Given the description of an element on the screen output the (x, y) to click on. 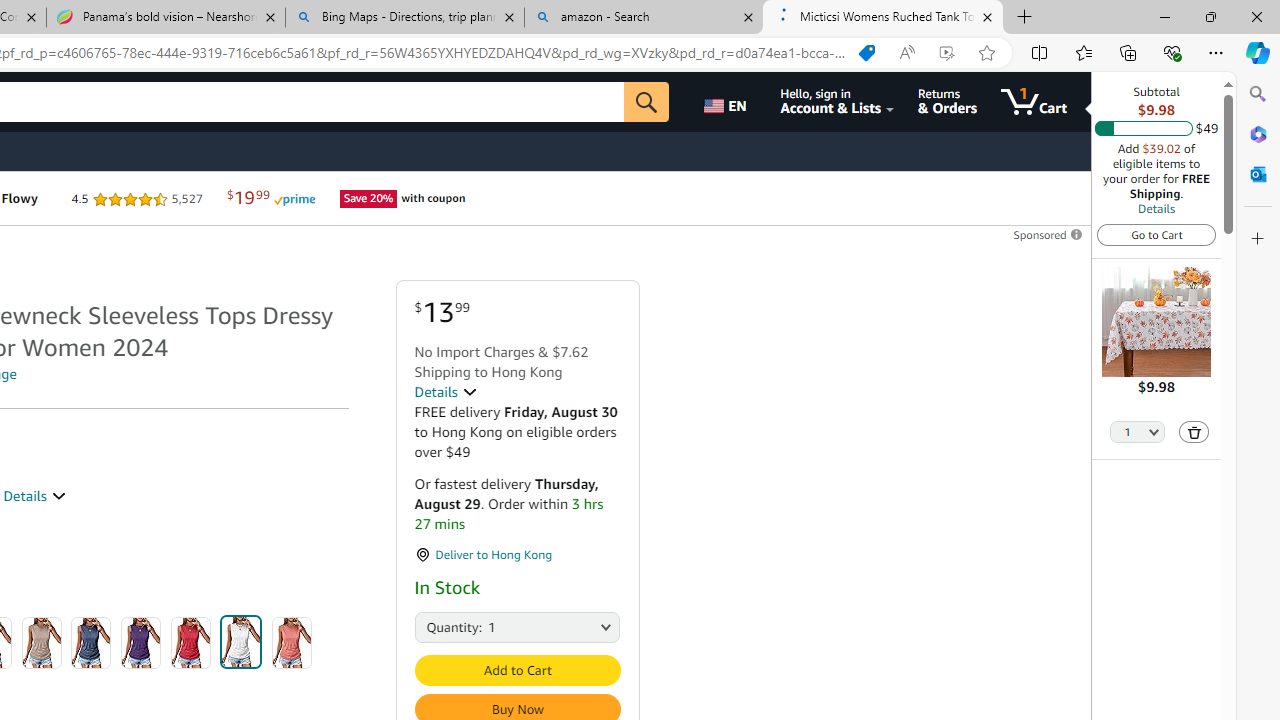
Red (190, 642)
Pink (292, 642)
Hello, sign in Account & Lists (836, 101)
White (241, 641)
Shopping in Microsoft Edge (867, 53)
1 item in cart (1034, 101)
amazon - Search (643, 17)
Details  (445, 391)
Add to Cart (516, 669)
Choose a language for shopping. (728, 101)
